Given the description of an element on the screen output the (x, y) to click on. 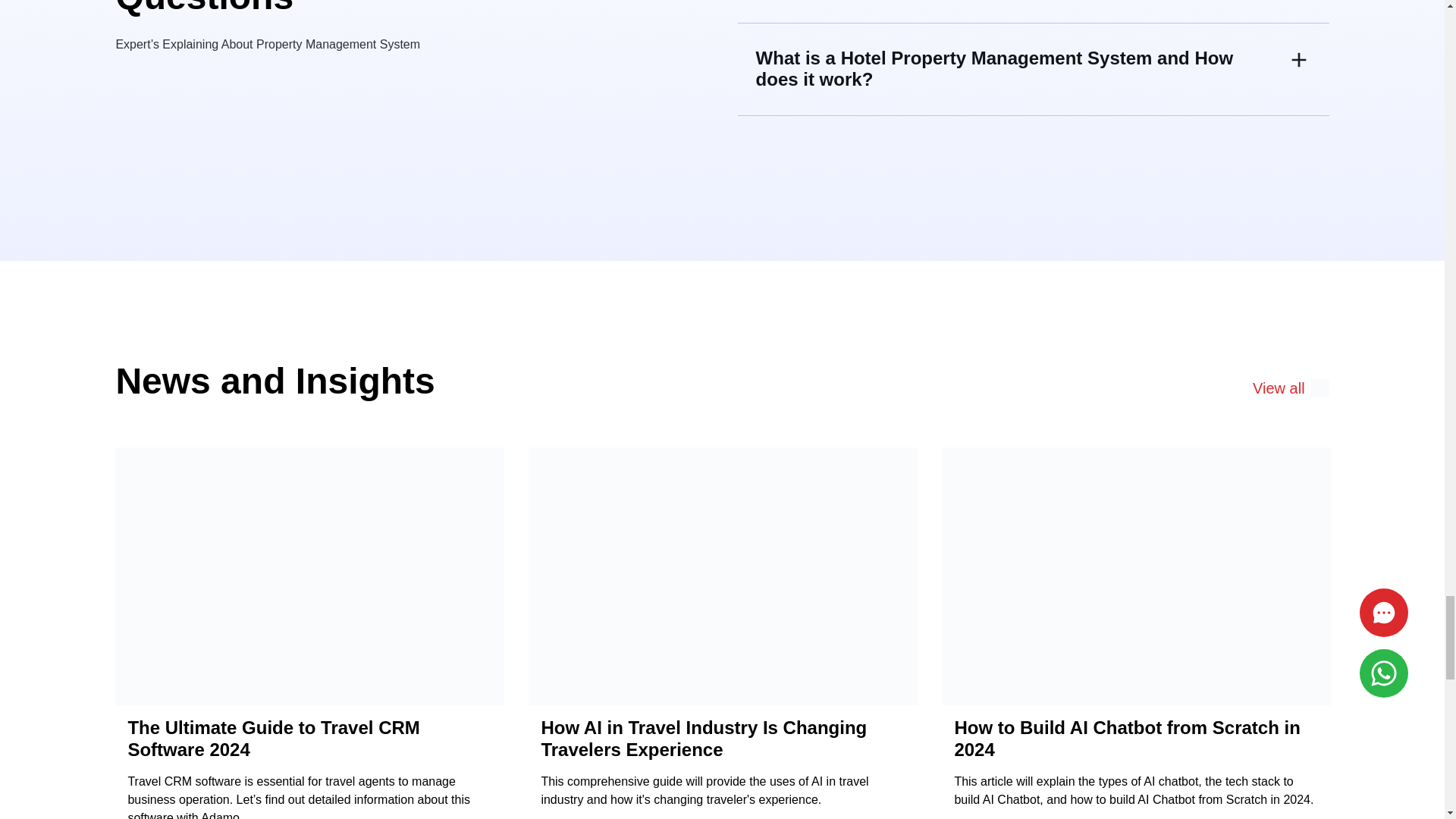
View all (1290, 387)
